Given the description of an element on the screen output the (x, y) to click on. 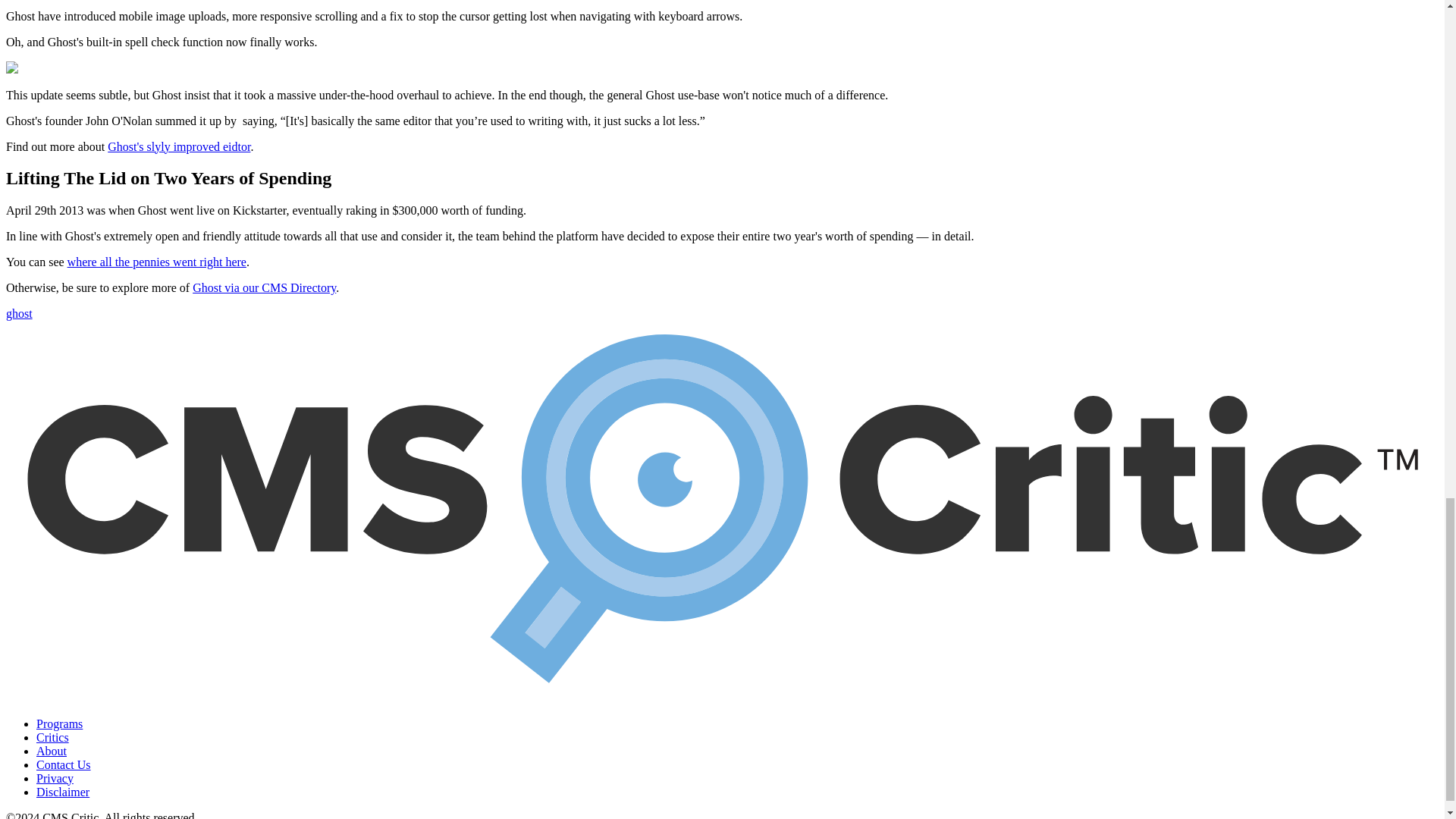
Programs (59, 723)
About (51, 750)
Ghost via our CMS Directory (264, 287)
Privacy (55, 778)
Critics (52, 737)
Contact Us (63, 764)
where all the pennies went right here (156, 261)
Ghost's slyly improved eidtor (178, 146)
Disclaimer (62, 791)
